Given the description of an element on the screen output the (x, y) to click on. 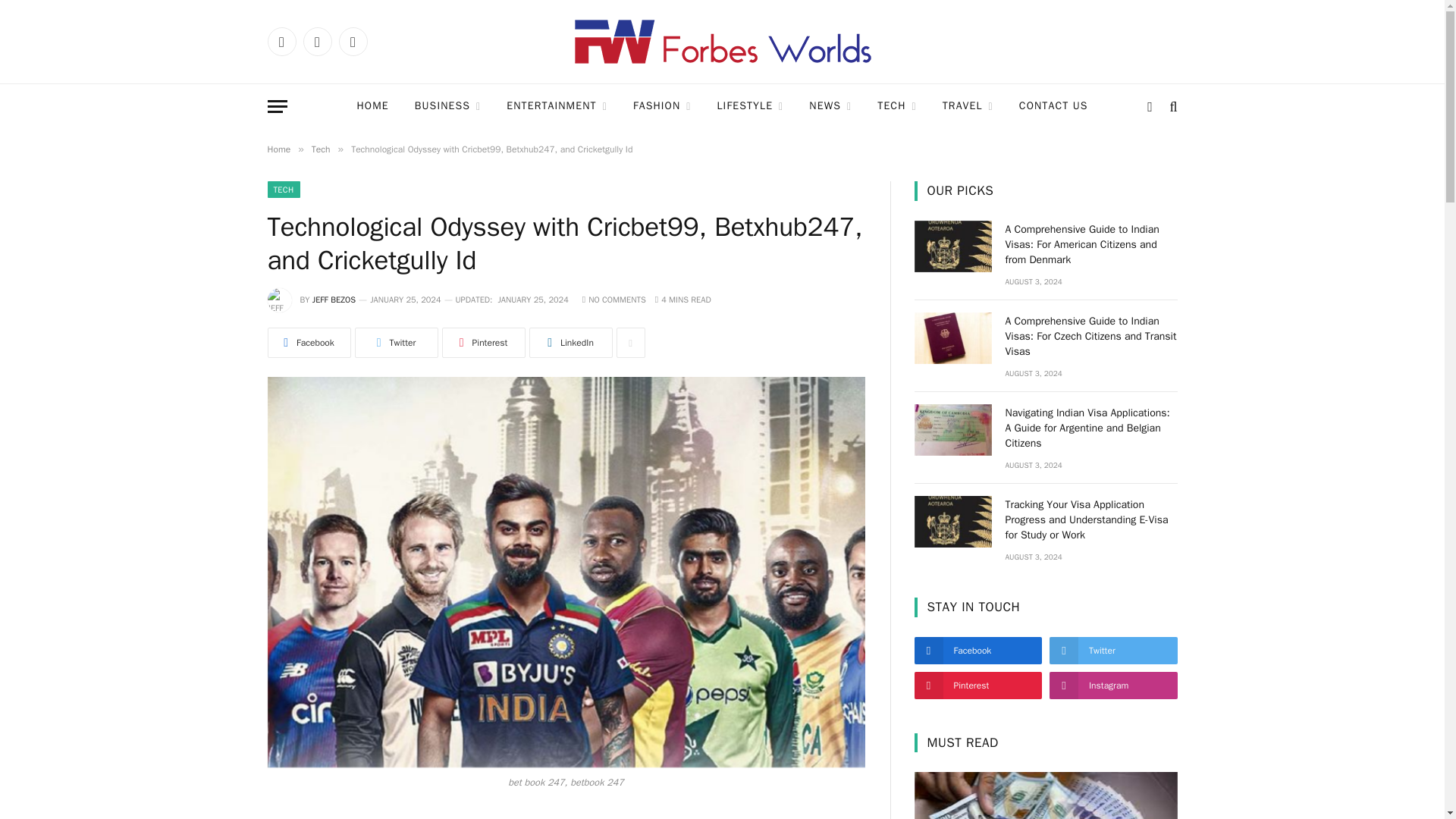
Instagram (351, 41)
BUSINESS (448, 106)
Twitter (316, 41)
FASHION (662, 106)
ENTERTAINMENT (556, 106)
Facebook (280, 41)
Forbes Worlds (721, 41)
HOME (372, 106)
